Given the description of an element on the screen output the (x, y) to click on. 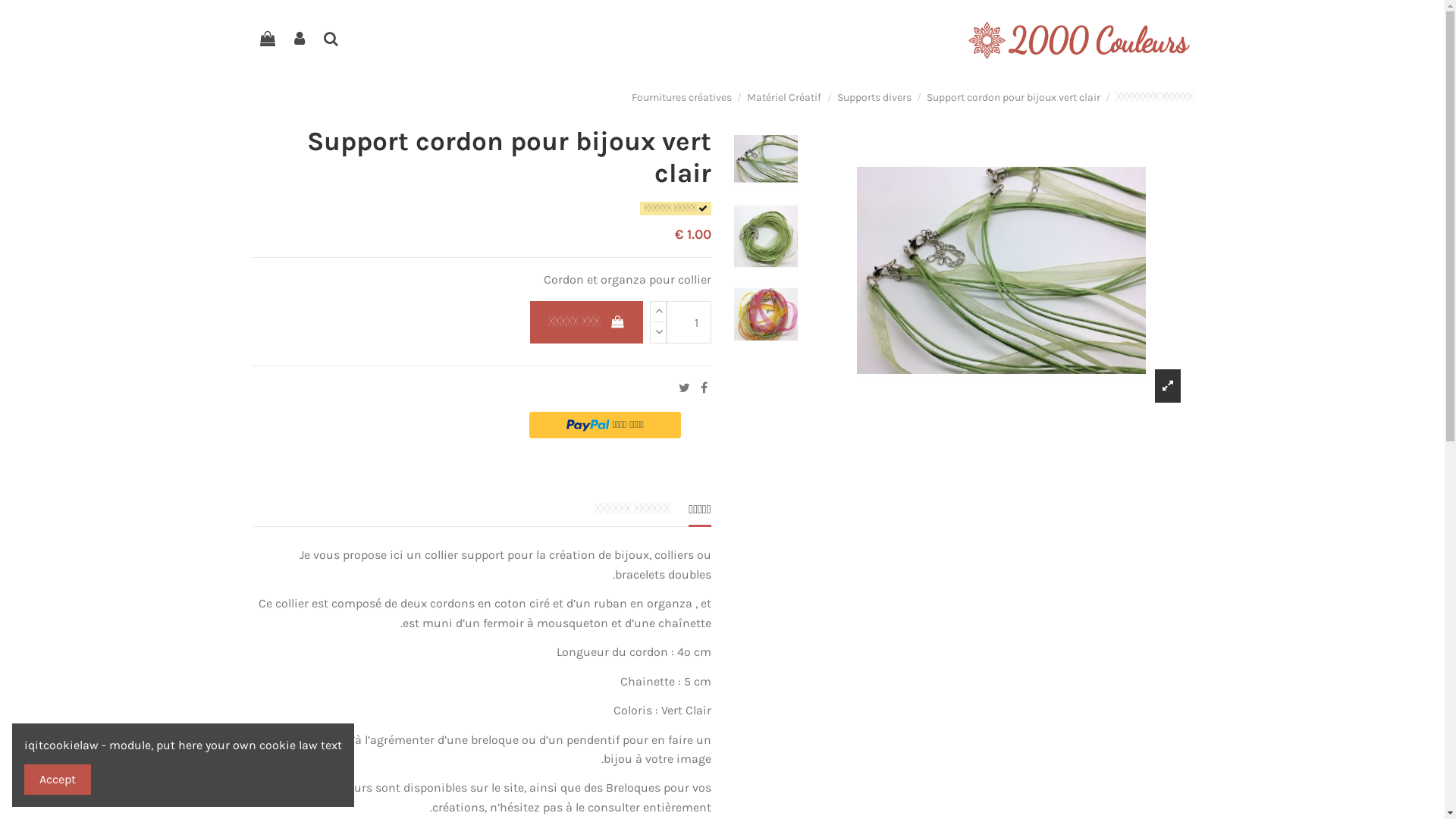
Support pour bijou couleur  vert clair Element type: hover (766, 313)
Support pour bijou couleur  vert clair Element type: hover (1000, 269)
PayPal Element type: hover (604, 424)
Accept Element type: text (57, 779)
Support pour bijou couleur  vert clair Element type: hover (766, 158)
Supports divers Element type: text (874, 97)
Support pour bijou couleur  vert clair Element type: hover (766, 236)
  Element type: text (709, 489)
